Given the description of an element on the screen output the (x, y) to click on. 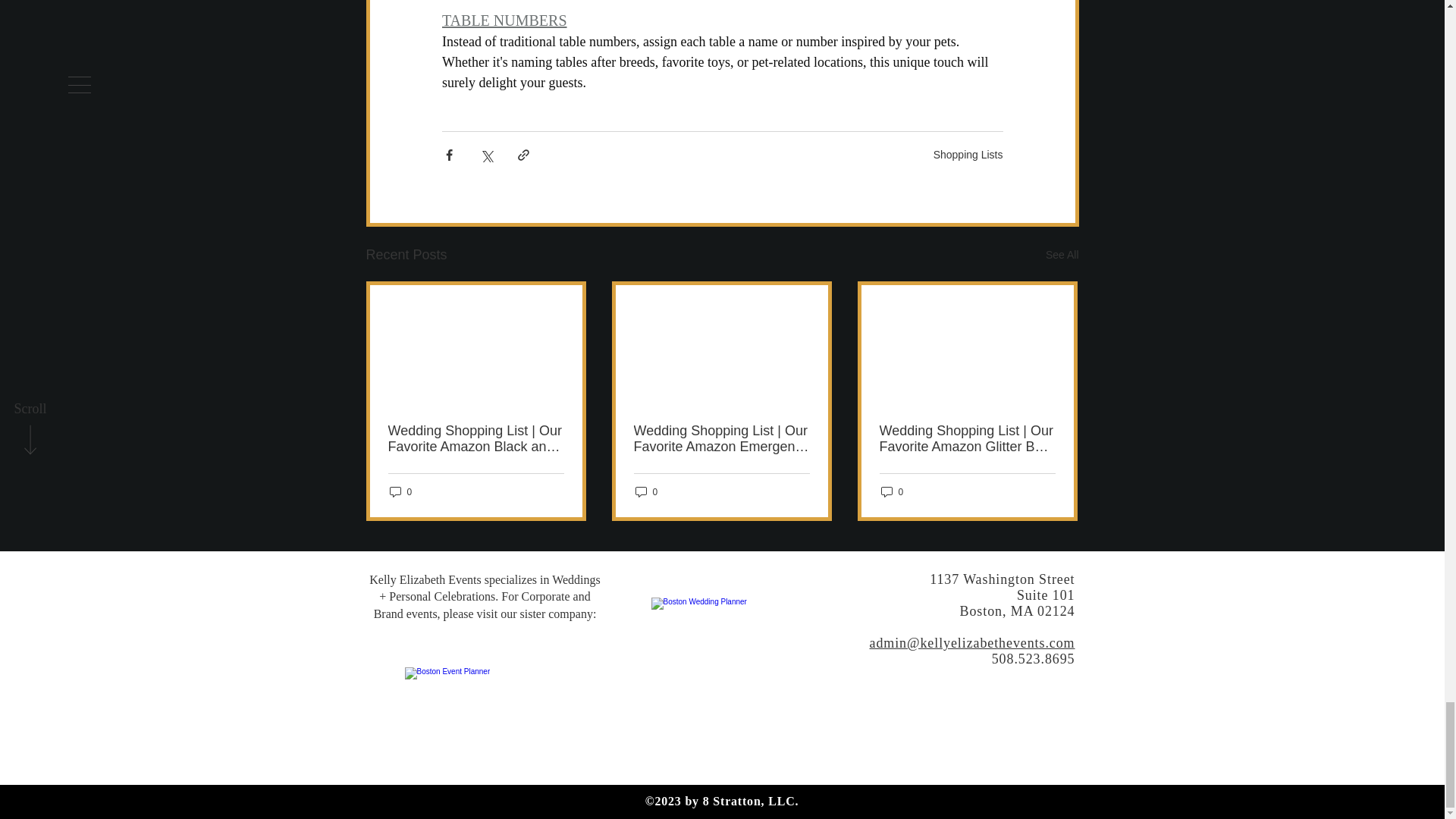
0 (892, 491)
TABLE NUMBERS (503, 20)
0 (400, 491)
0 (646, 491)
Shopping Lists (968, 154)
See All (1061, 255)
